Given the description of an element on the screen output the (x, y) to click on. 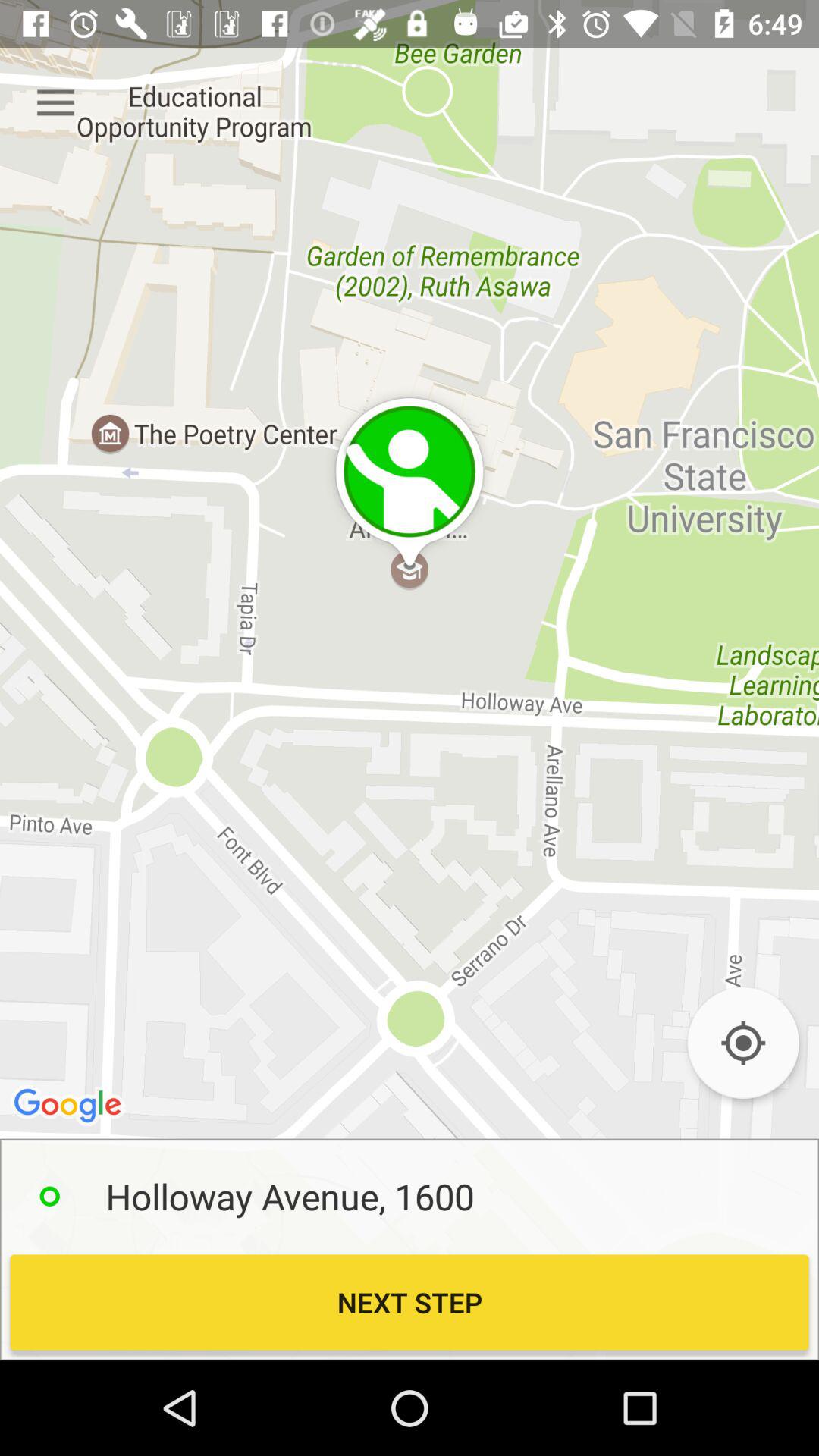
launch item below holloway avenue, 1600 item (409, 1302)
